Given the description of an element on the screen output the (x, y) to click on. 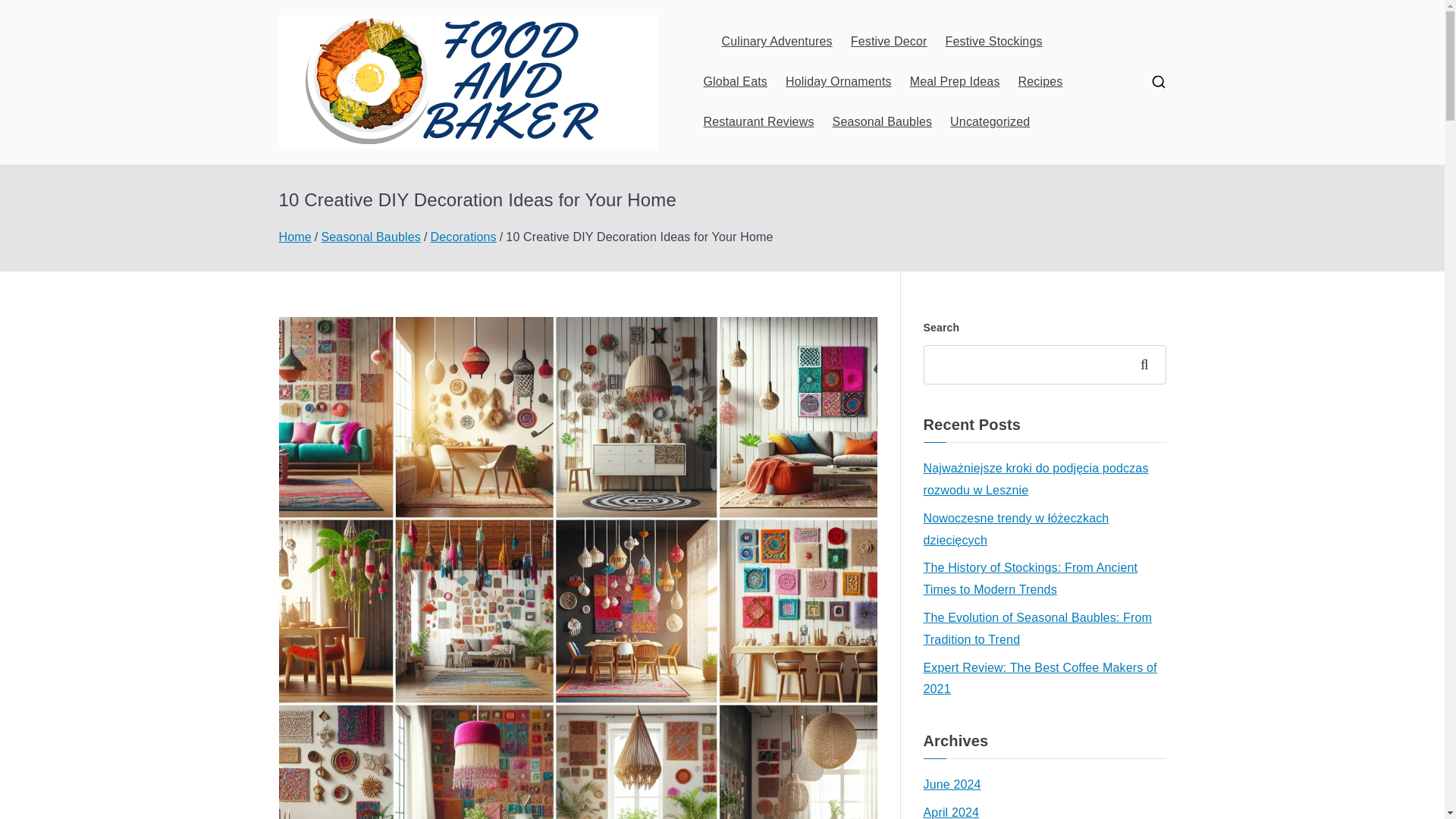
Festive Decor (888, 42)
foodandbaker (773, 101)
Search (26, 12)
Restaurant Reviews (758, 122)
Recipes (1039, 82)
Global Eats (735, 82)
Uncategorized (989, 122)
Holiday Ornaments (838, 82)
Culinary Adventures (777, 42)
Festive Stockings (993, 42)
Meal Prep Ideas (955, 82)
Seasonal Baubles (882, 122)
